Given the description of an element on the screen output the (x, y) to click on. 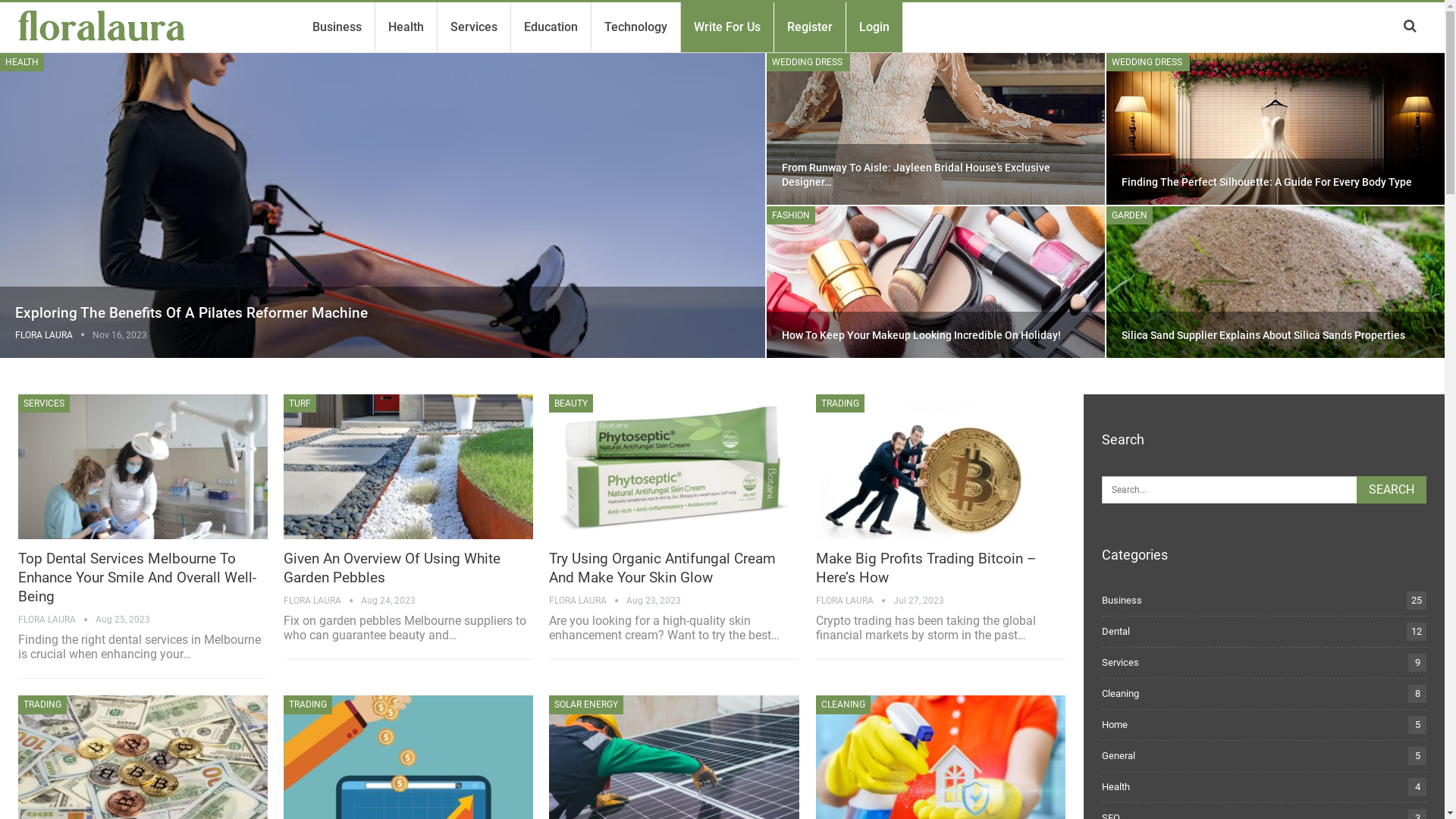
FLORA LAURA Element type: text (56, 619)
Given An Overview Of Using White Garden Pebbles Element type: hover (408, 466)
Finding the Perfect Silhouette: A Guide for Every Body Type Element type: hover (1275, 128)
Health
4 Element type: text (1115, 786)
WEDDING DRESS  Element type: text (808, 62)
Search for: Element type: hover (1263, 489)
Services Element type: text (473, 27)
TURF Element type: text (299, 403)
Cleaning
8 Element type: text (1120, 693)
Services
9 Element type: text (1120, 662)
BEAUTY Element type: text (571, 403)
CLEANING Element type: text (842, 704)
How To Keep Your Makeup Looking Incredible On Holiday! Element type: hover (935, 281)
HEALTH Element type: text (21, 62)
FLORA LAURA Element type: text (587, 600)
Login Element type: text (873, 27)
How To Keep Your Makeup Looking Incredible On Holiday! Element type: text (920, 335)
Given An Overview Of Using White Garden Pebbles Element type: text (391, 567)
Business Element type: text (337, 27)
Education Element type: text (550, 27)
Search Element type: text (1391, 489)
GARDEN Element type: text (1129, 215)
FLORA LAURA Element type: text (321, 600)
Write For Us Element type: text (726, 27)
Register Element type: text (809, 27)
Technology Element type: text (635, 27)
Health Element type: text (405, 27)
TRADING Element type: text (42, 704)
Try Using Organic Antifungal Cream And Make Your Skin Glow Element type: text (662, 567)
Silica Sand Supplier Explains About Silica Sands Properties Element type: text (1263, 335)
Finding The Perfect Silhouette: A Guide For Every Body Type Element type: text (1266, 181)
General
5 Element type: text (1118, 755)
Business
25 Element type: text (1121, 599)
SERVICES Element type: text (43, 403)
FASHION Element type: text (790, 215)
Exploring The Benefits Of A Pilates Reformer Machine Element type: text (191, 312)
Silica Sand Supplier Explains About Silica Sands Properties Element type: hover (1275, 281)
Try Using Organic Antifungal Cream And Make Your Skin Glow Element type: hover (673, 466)
TRADING Element type: text (839, 403)
SOLAR ENERGY Element type: text (586, 704)
FLORA LAURA Element type: text (854, 600)
Home
5 Element type: text (1114, 724)
Dental
12 Element type: text (1115, 631)
TRADING Element type: text (307, 704)
WEDDING DRESS  Element type: text (1147, 62)
FLORA LAURA Element type: text (53, 334)
